Given the description of an element on the screen output the (x, y) to click on. 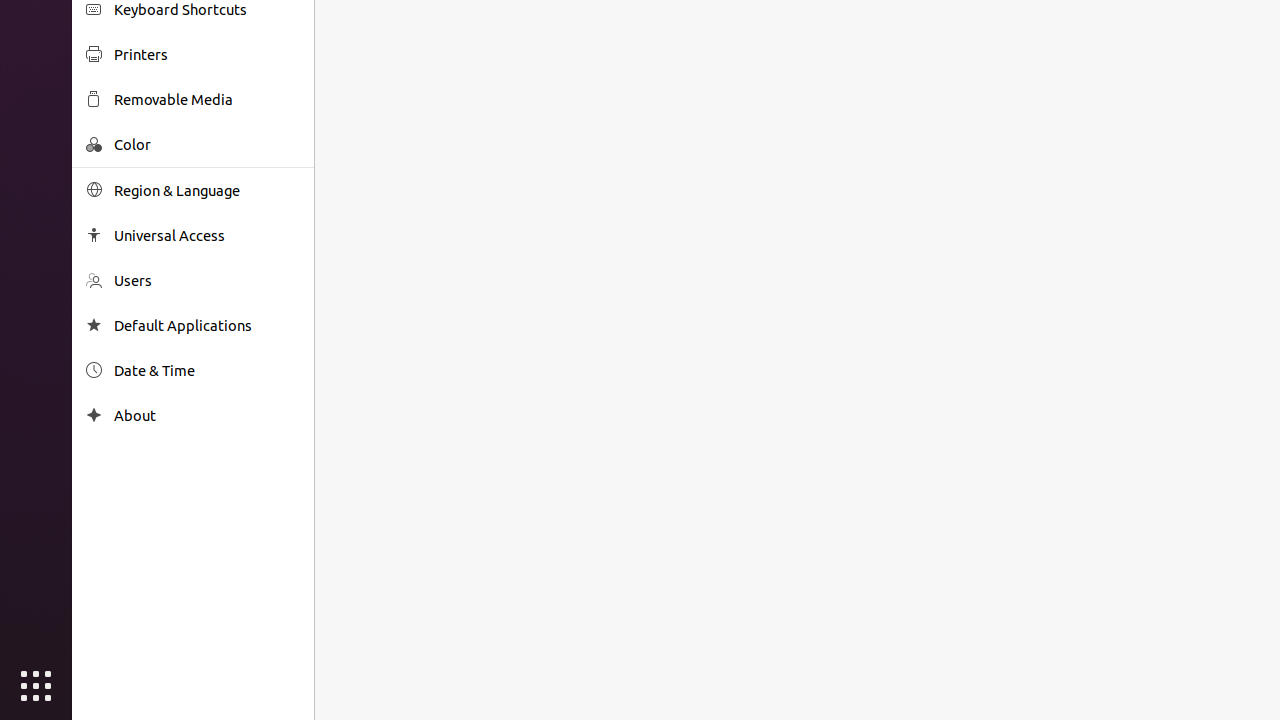
About Element type: label (207, 415)
Users Element type: label (207, 280)
Keyboard Shortcuts Element type: label (207, 9)
Date & Time Element type: label (207, 370)
